Given the description of an element on the screen output the (x, y) to click on. 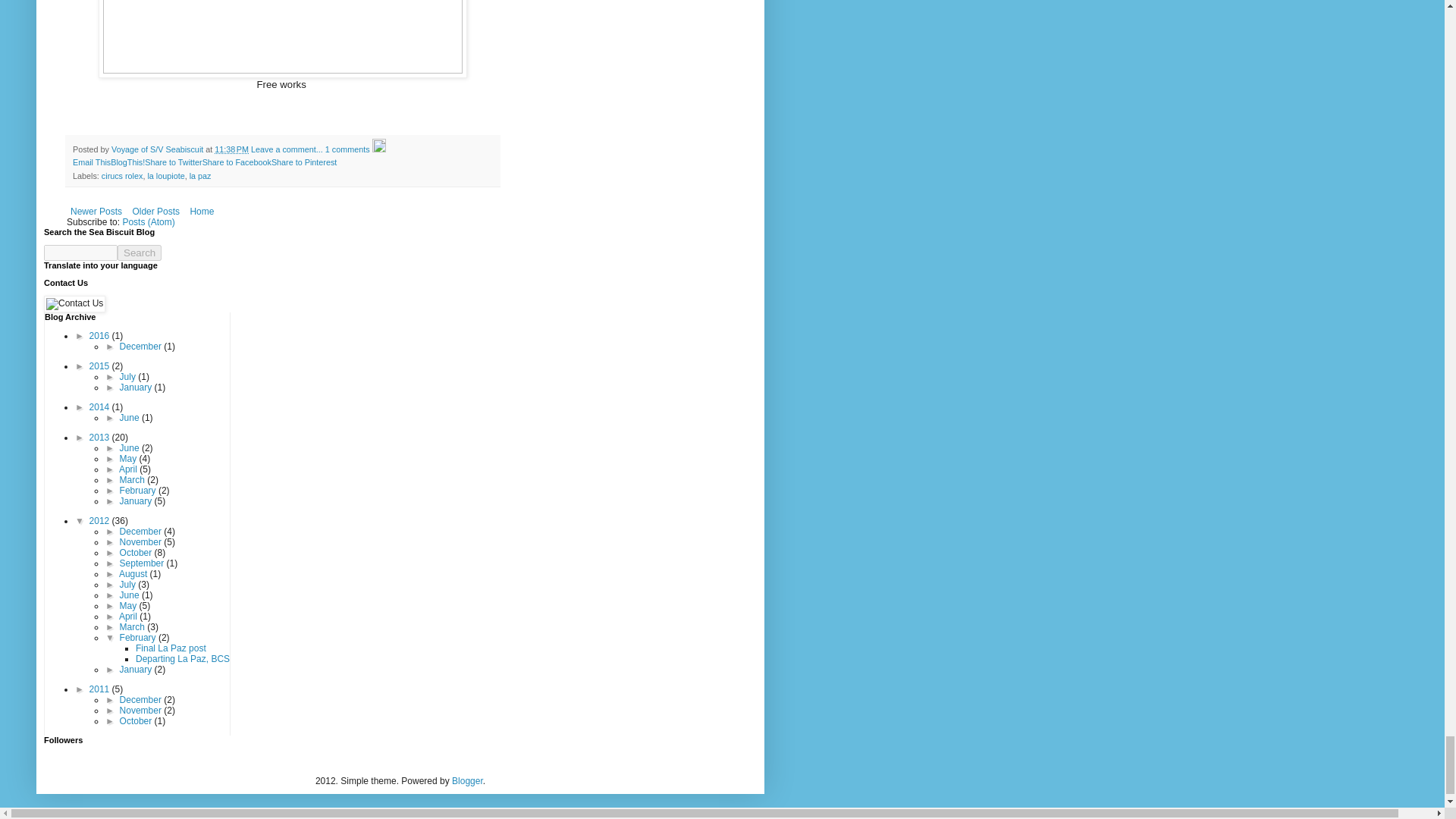
Search (139, 252)
author profile (158, 148)
Search (139, 252)
BlogThis! (127, 162)
Email This (91, 162)
Share to Facebook (236, 162)
Edit Post (378, 148)
Share to Twitter (173, 162)
permanent link (231, 148)
